Given the description of an element on the screen output the (x, y) to click on. 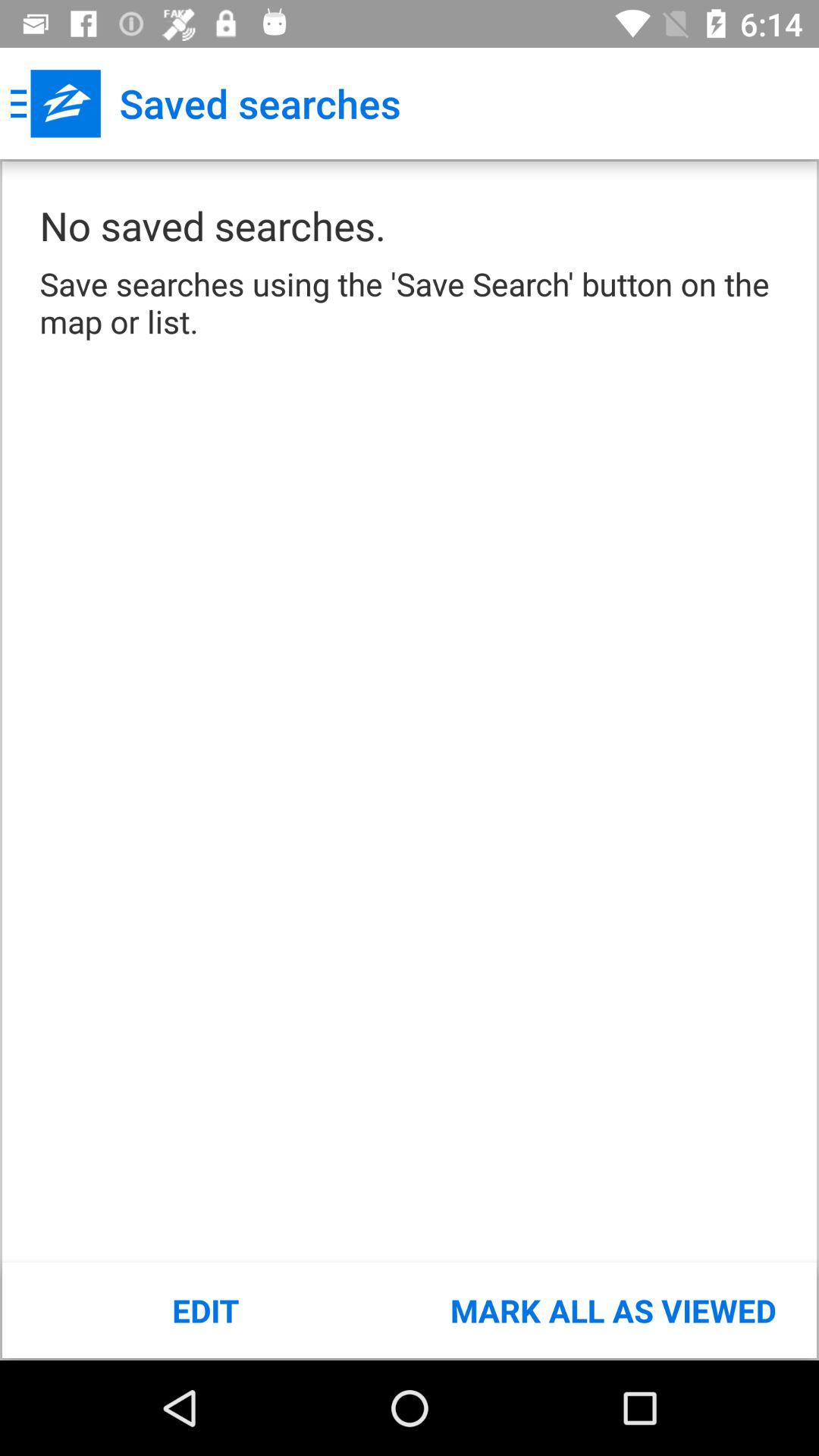
flip until edit item (205, 1310)
